Given the description of an element on the screen output the (x, y) to click on. 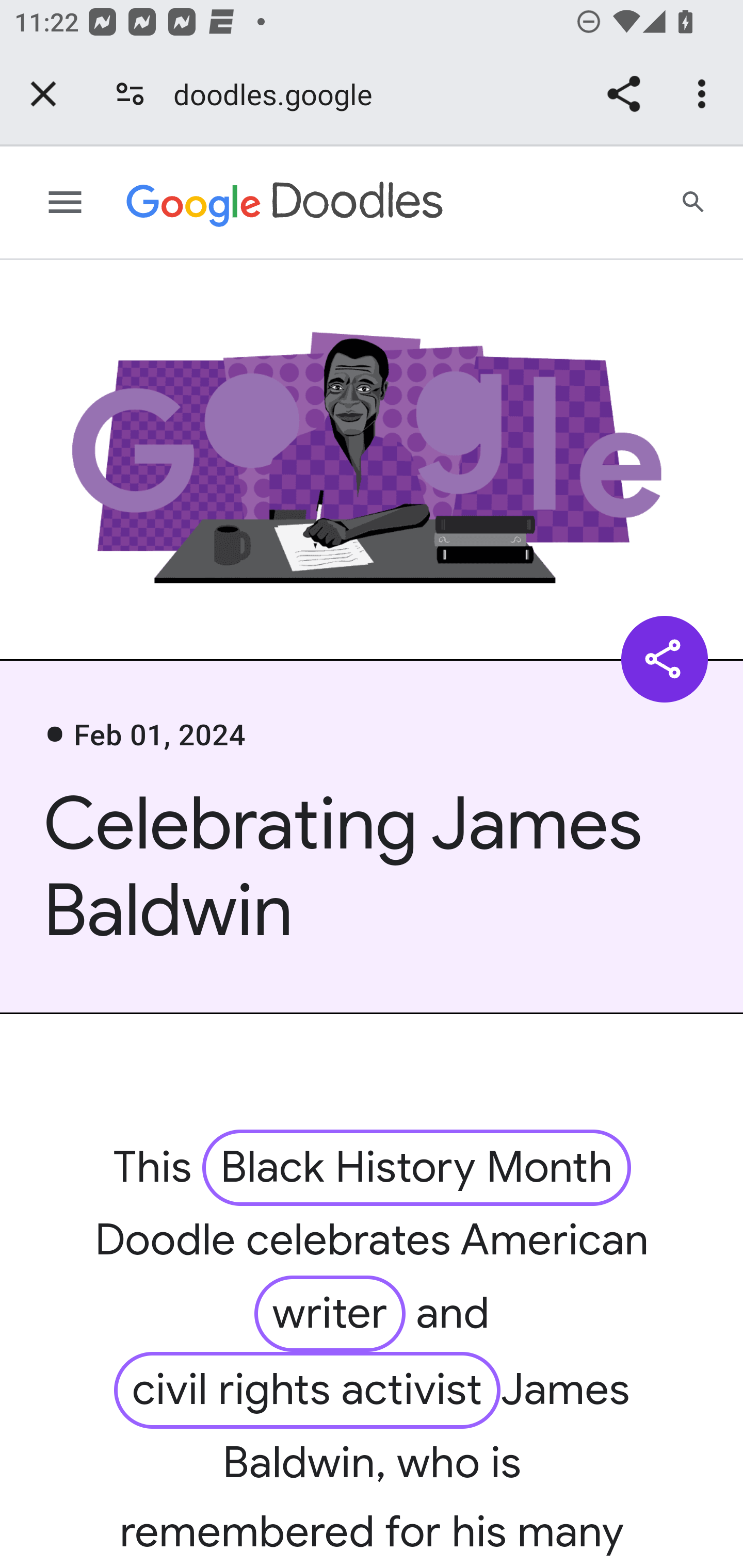
Close tab (43, 93)
Share (623, 93)
Customize and control Google Chrome (705, 93)
Connection is secure (129, 93)
doodles.google (280, 93)
Open the navigation drawer (65, 202)
Google doodles (285, 202)
Search (694, 202)
Share (665, 658)
Black History Month (417, 1167)
writer (329, 1313)
civil rights activist (307, 1390)
